Given the description of an element on the screen output the (x, y) to click on. 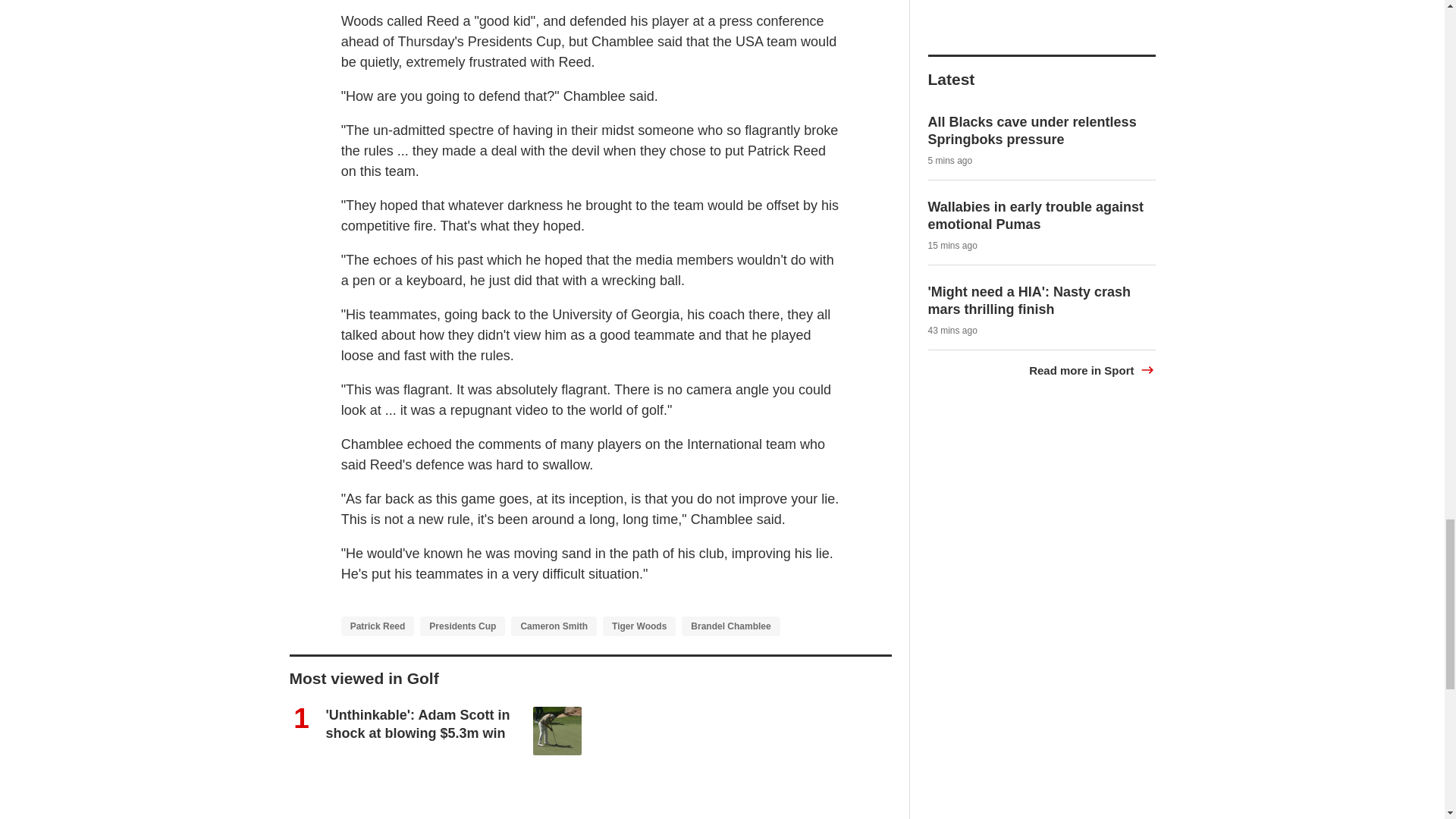
Tiger Woods (638, 626)
Presidents Cup (462, 626)
Cameron Smith (553, 626)
Patrick Reed (377, 626)
Brandel Chamblee (729, 626)
